Given the description of an element on the screen output the (x, y) to click on. 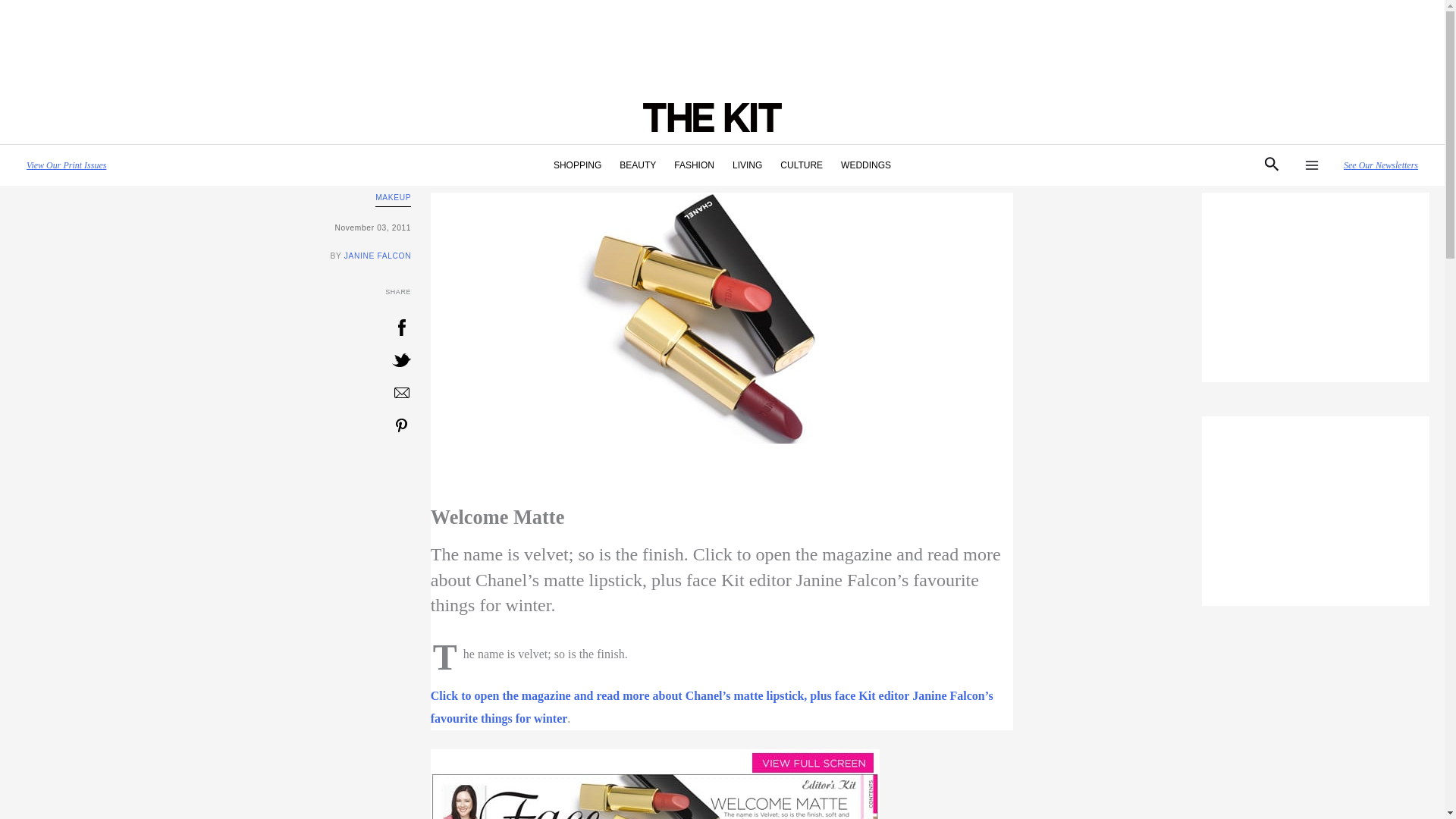
SHOPPING (577, 164)
The-Kit (654, 784)
The Kit (711, 706)
View Our Print Issues (66, 164)
BEAUTY (637, 164)
November 03, 2011 (212, 227)
FASHION (694, 164)
